Given the description of an element on the screen output the (x, y) to click on. 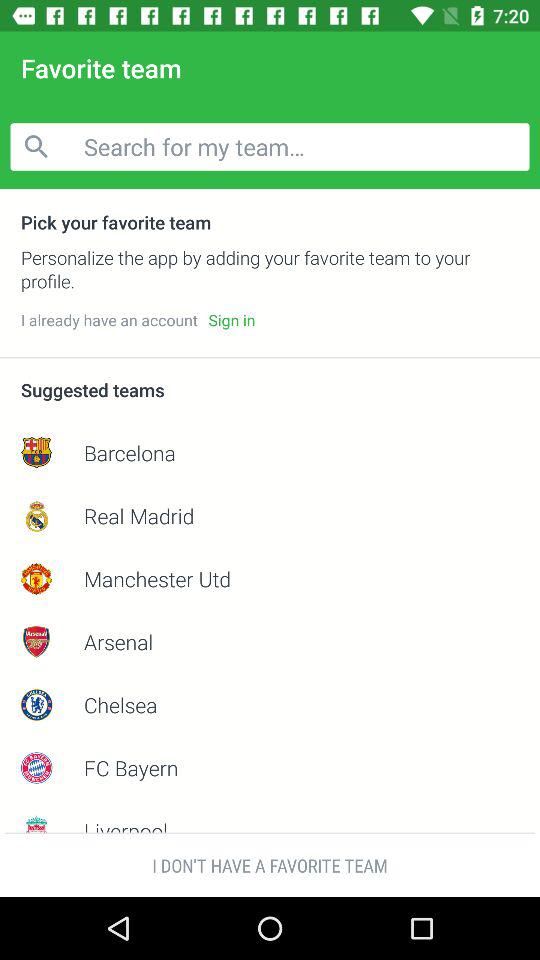
press icon next to i already have item (231, 319)
